Given the description of an element on the screen output the (x, y) to click on. 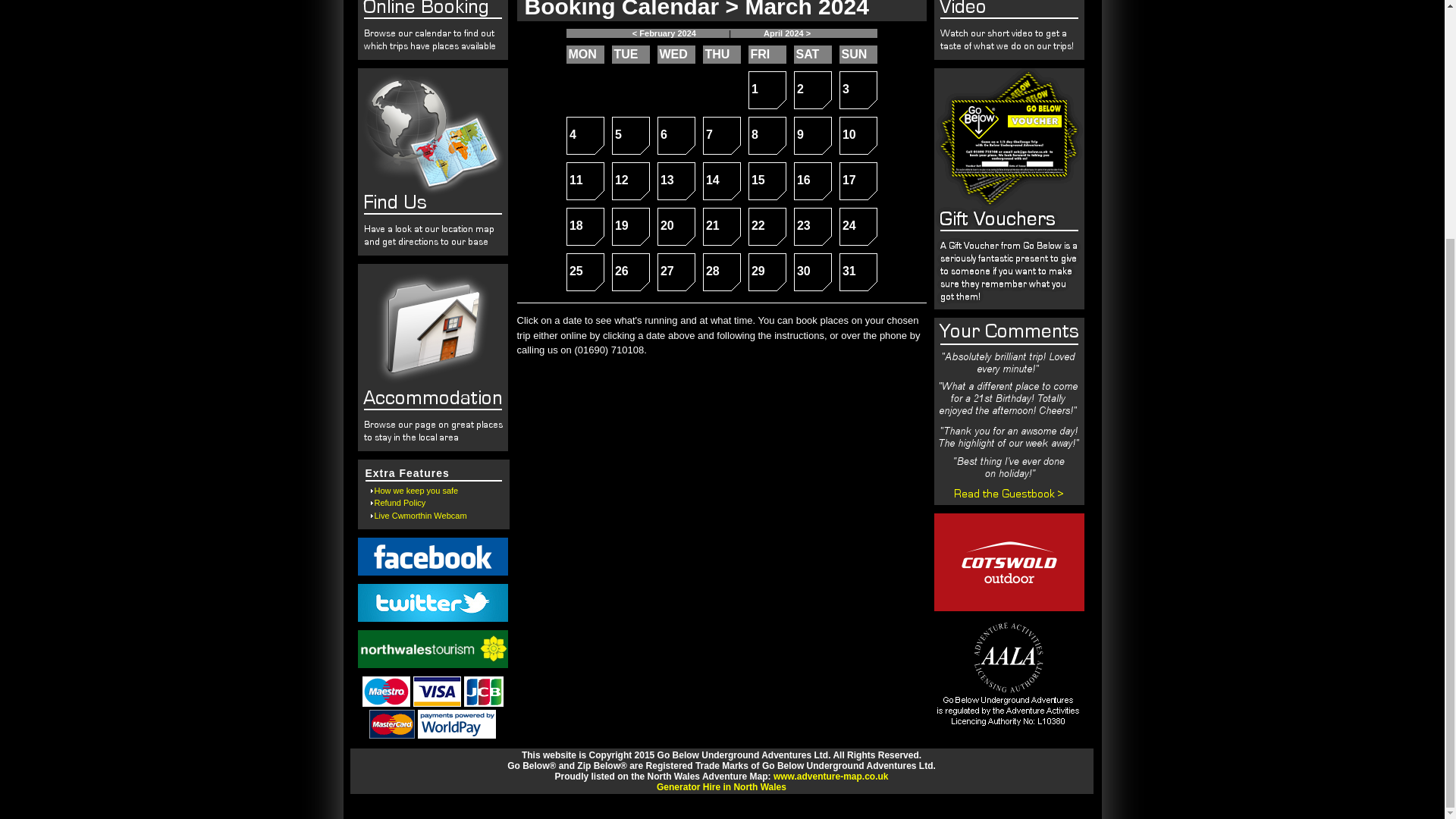
Refund Policy (857, 135)
How we keep you safe (720, 135)
Live Cwmorthin Webcam (630, 180)
